Given the description of an element on the screen output the (x, y) to click on. 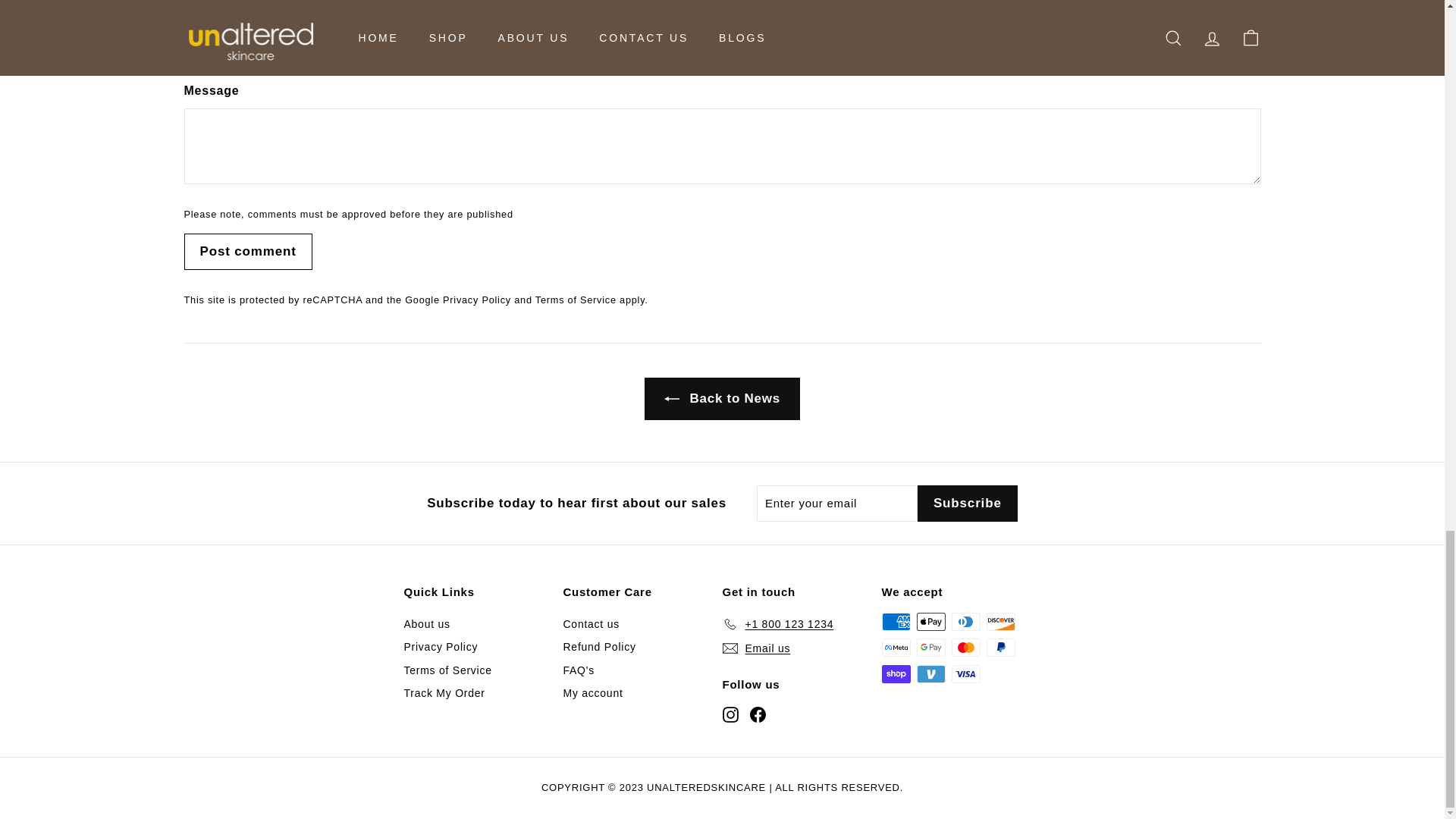
Diners Club (964, 621)
Google Pay (929, 647)
PayPal (999, 647)
Unaltered Skin on Facebook (757, 713)
Shop Pay (895, 674)
Visa (964, 674)
Meta Pay (895, 647)
Unaltered Skin on Instagram (730, 713)
Apple Pay (929, 621)
American Express (895, 621)
Mastercard (964, 647)
Discover (999, 621)
Venmo (929, 674)
